Given the description of an element on the screen output the (x, y) to click on. 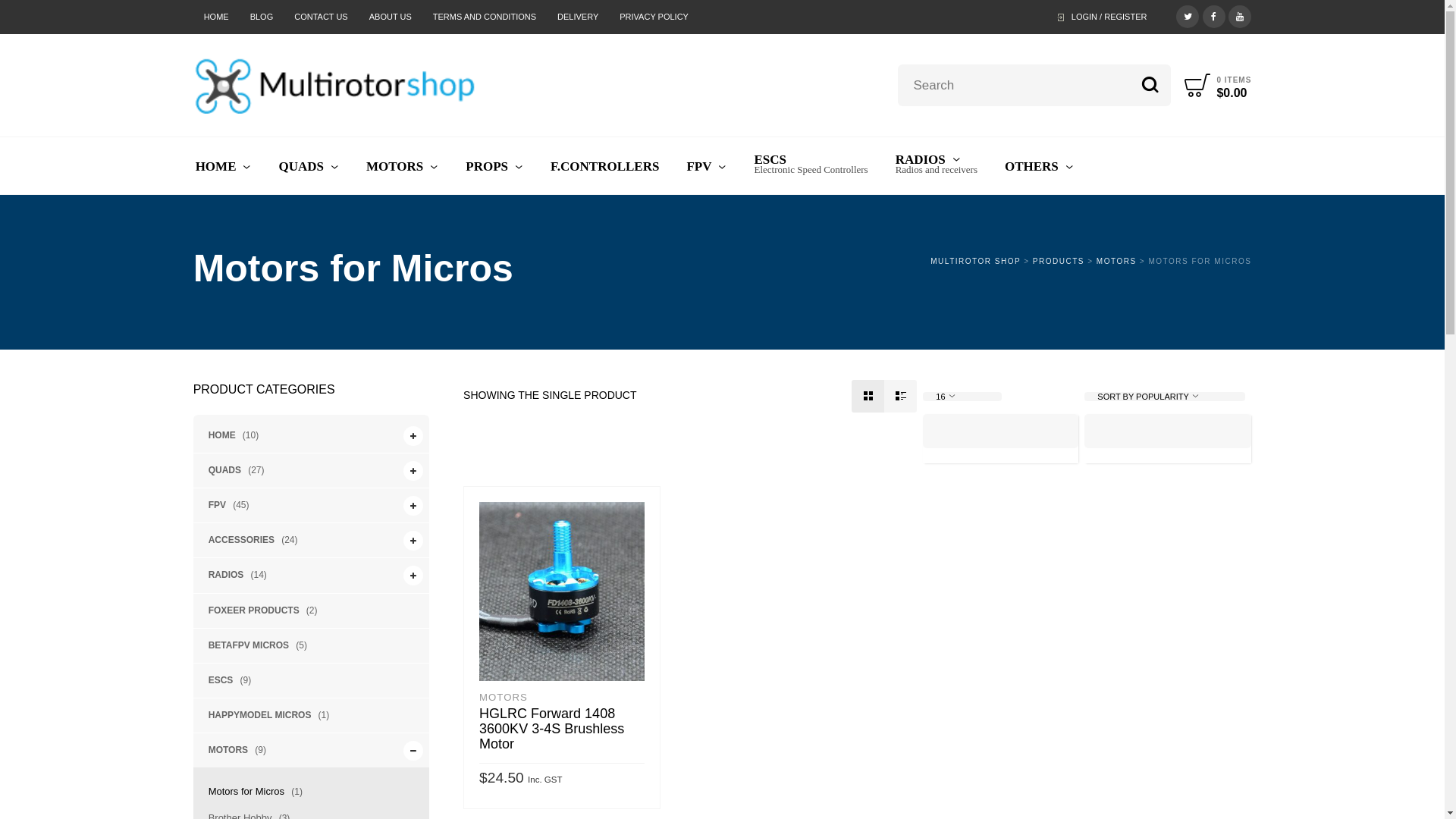
ESCS
Electronic Speed Controllers Element type: text (810, 166)
HAPPYMODEL MICROS Element type: text (254, 715)
DELIVERY Element type: text (577, 17)
RADIOS Element type: text (220, 575)
QUADS Element type: text (308, 166)
MOTORS Element type: text (401, 166)
BLOG Element type: text (261, 17)
PRODUCTS Element type: text (1058, 261)
CONTACT US Element type: text (320, 17)
HOME Element type: text (223, 166)
PRIVACY POLICY Element type: text (653, 17)
Twitter Element type: hover (1187, 15)
0 ITEMS
$0.00 Element type: text (1214, 85)
SORT BY POPULARITY Element type: text (1164, 396)
QUADS Element type: text (218, 470)
MOTORS Element type: text (503, 696)
Facebook Element type: hover (1213, 15)
F.CONTROLLERS Element type: text (604, 166)
LOGIN / REGISTER Element type: text (1103, 17)
YouTube Element type: hover (1239, 15)
FPV Element type: text (211, 505)
ABOUT US Element type: text (390, 17)
MULTIROTOR SHOP Element type: text (975, 261)
ESCS Element type: text (215, 680)
HOME Element type: text (216, 17)
FOXEER PRODUCTS Element type: text (248, 610)
16 Element type: text (961, 396)
MOTORS Element type: text (1116, 261)
Motors for Micros Element type: text (240, 791)
RADIOS
Radios and receivers Element type: text (936, 166)
BETAFPV MICROS Element type: text (242, 645)
ACCESSORIES Element type: text (235, 540)
HOME Element type: text (216, 435)
PROPS Element type: text (493, 166)
HGLRC Forward 1408 3600KV 3-4S Brushless Motor Element type: text (551, 728)
MOTORS Element type: text (222, 750)
OTHERS Element type: text (1039, 166)
TERMS AND CONDITIONS Element type: text (484, 17)
FPV Element type: text (706, 166)
